Given the description of an element on the screen output the (x, y) to click on. 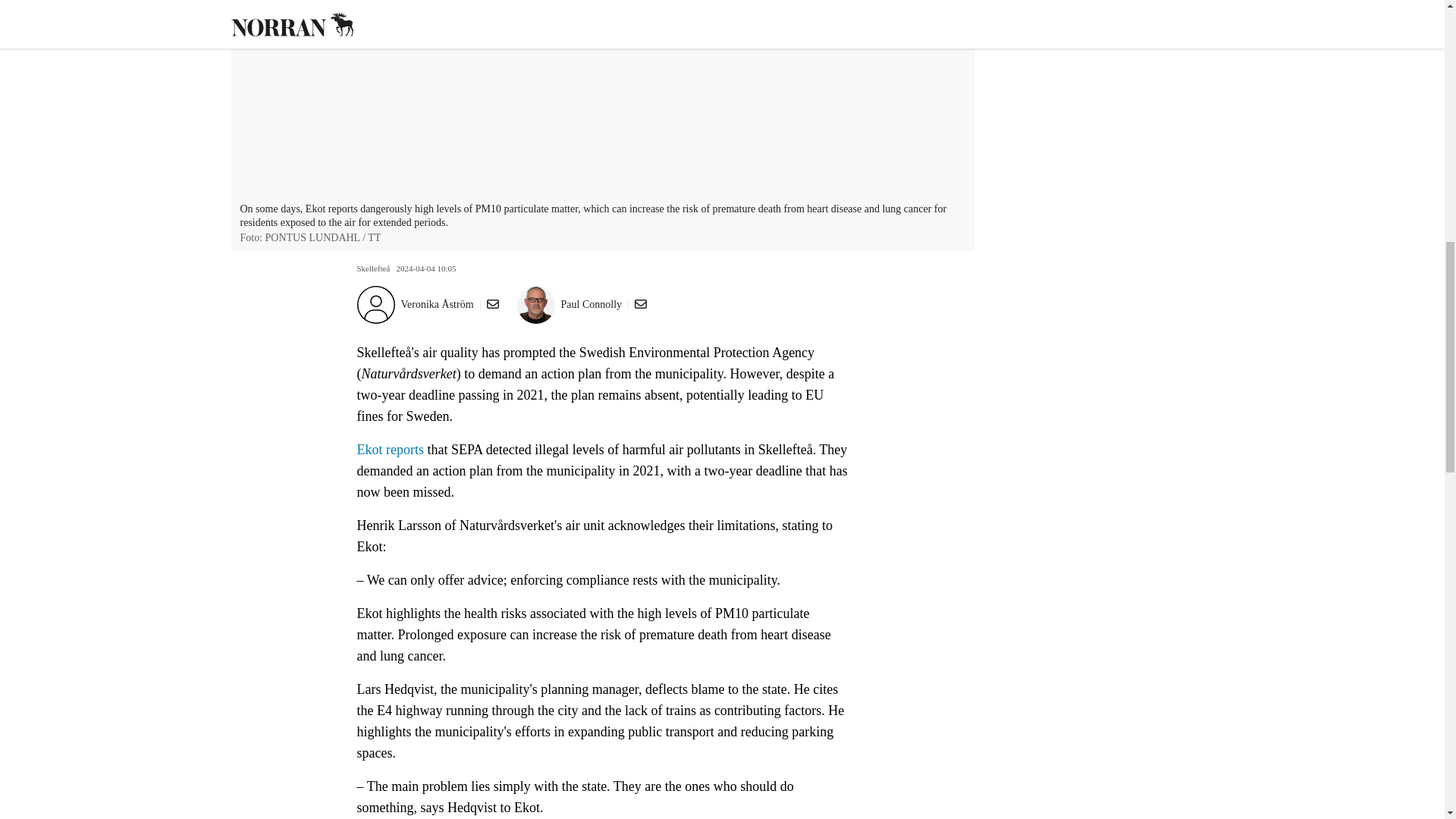
Paul Connolly (591, 305)
Ekot reports (391, 449)
Visa fler artiklar av Paul Connolly (591, 305)
